Given the description of an element on the screen output the (x, y) to click on. 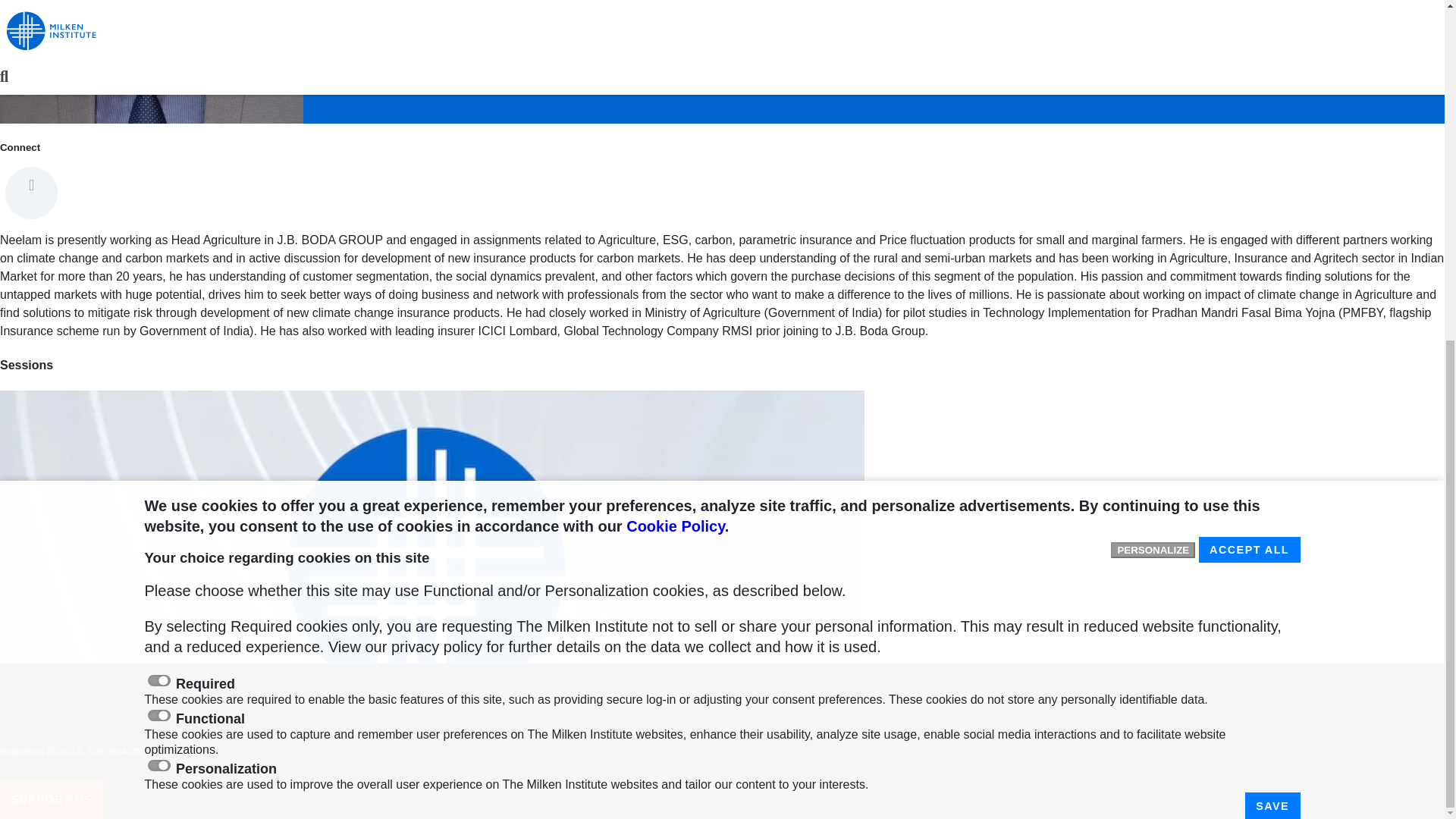
NEWSROOM (40, 703)
functional (158, 138)
personalization (158, 188)
required (158, 102)
